Given the description of an element on the screen output the (x, y) to click on. 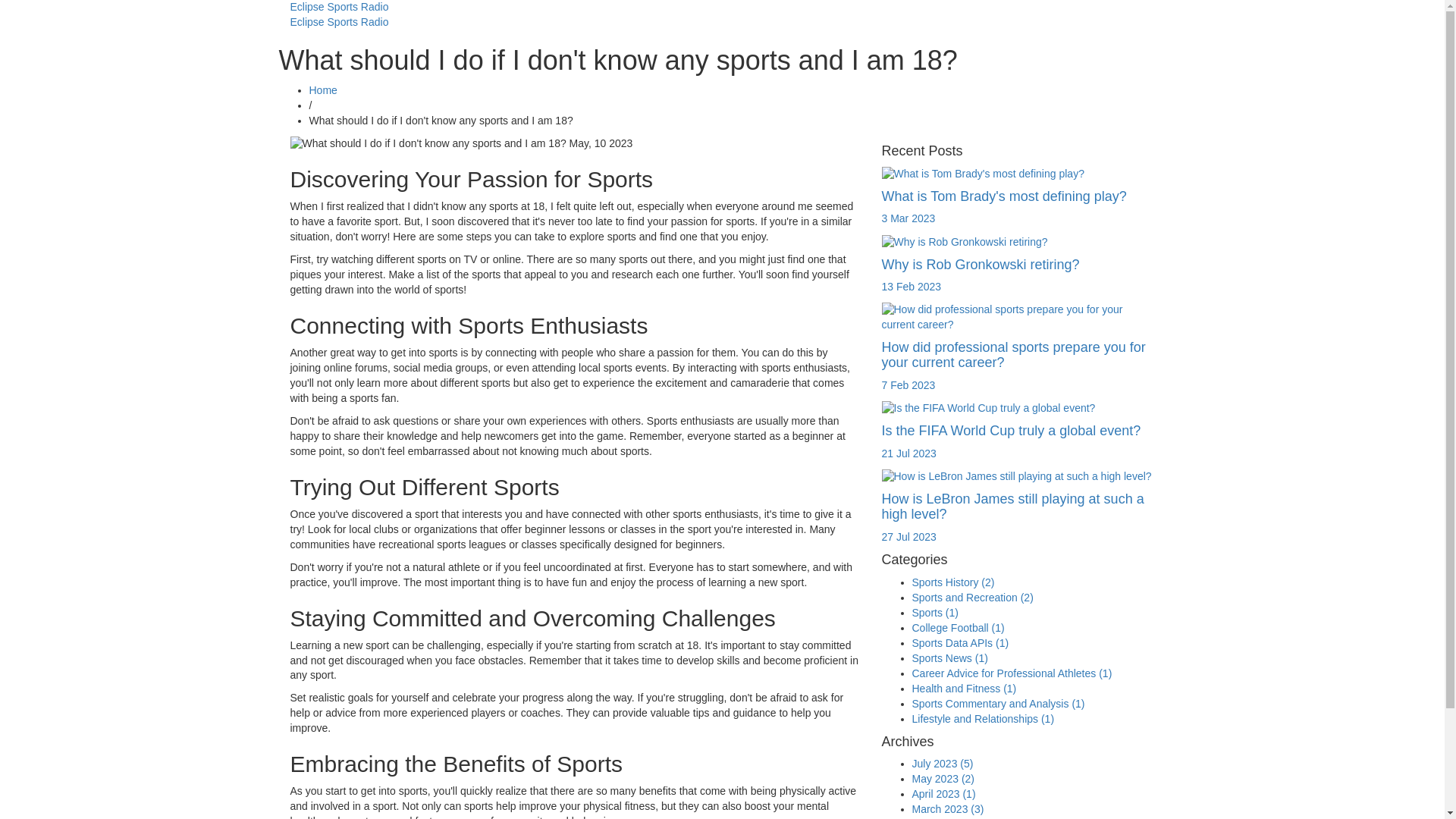
Eclipse Sports Radio (338, 6)
Eclipse Sports Radio (338, 21)
Home (322, 90)
